Given the description of an element on the screen output the (x, y) to click on. 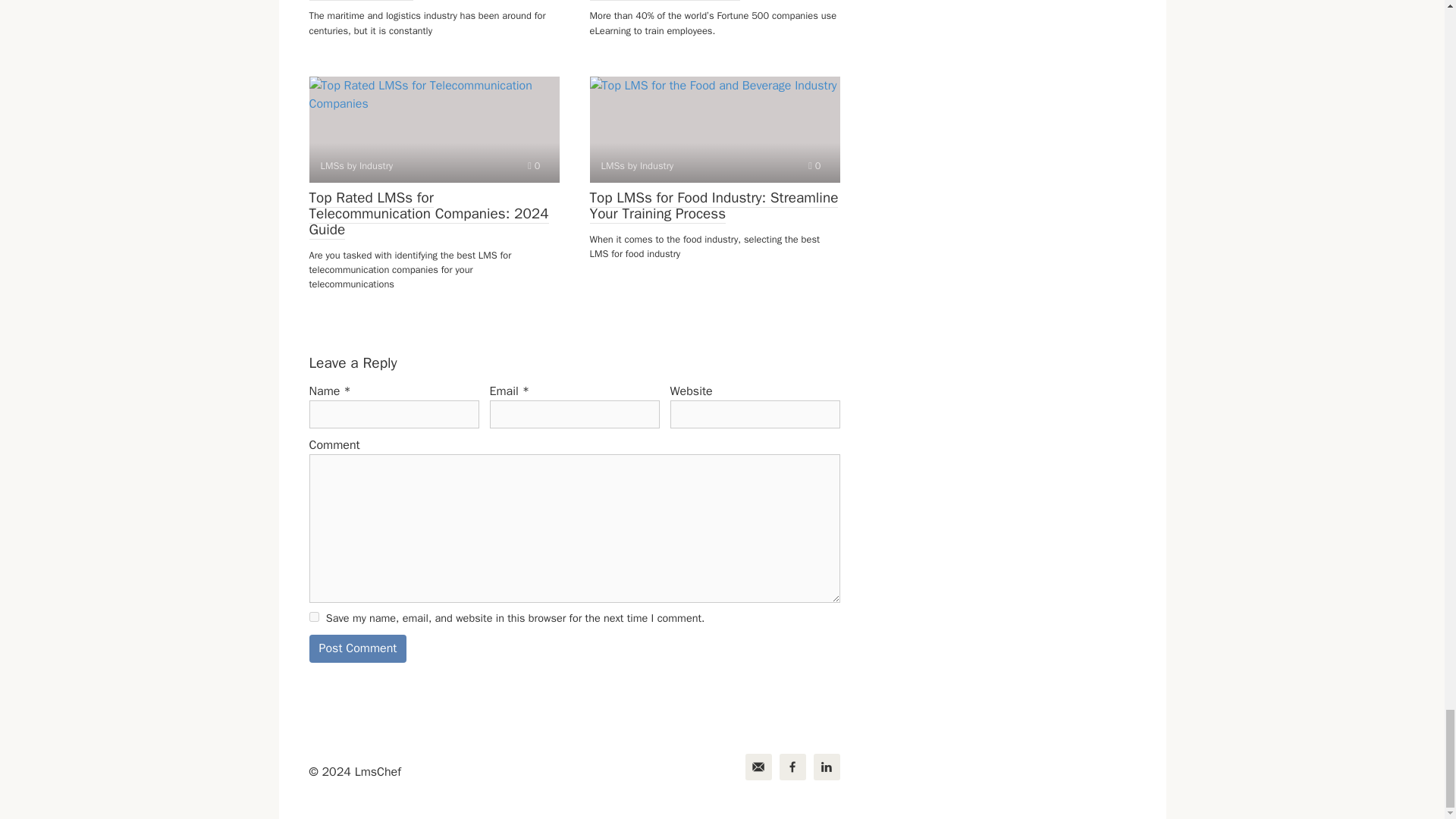
Comments (814, 165)
Post Comment (357, 648)
Comments (533, 165)
yes (313, 616)
